Given the description of an element on the screen output the (x, y) to click on. 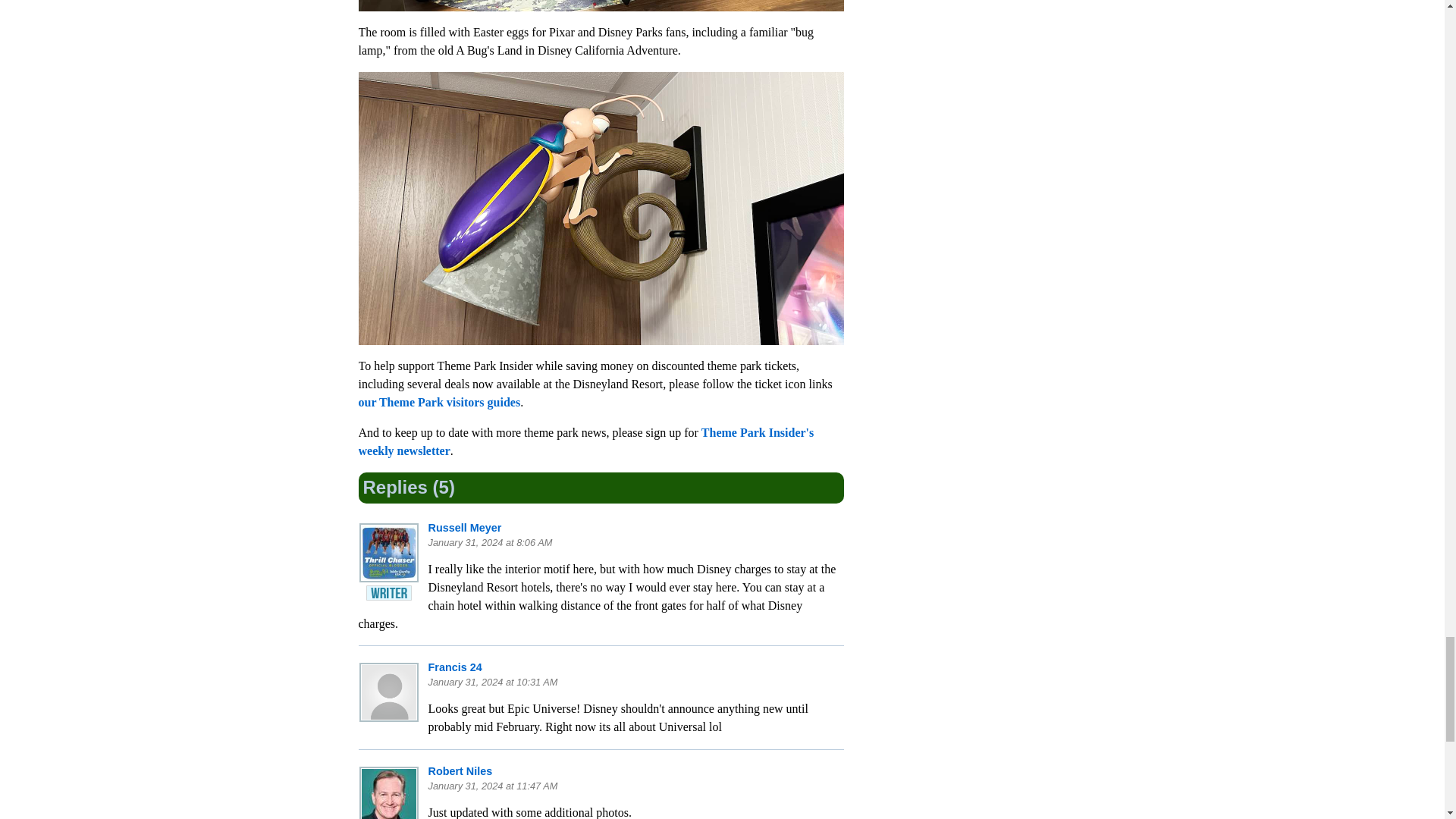
Francis 24 (454, 666)
Theme Park Insider's weekly newsletter (585, 441)
Russell Meyer (464, 527)
our Theme Park visitors guides (438, 401)
Robert Niles (460, 770)
